Given the description of an element on the screen output the (x, y) to click on. 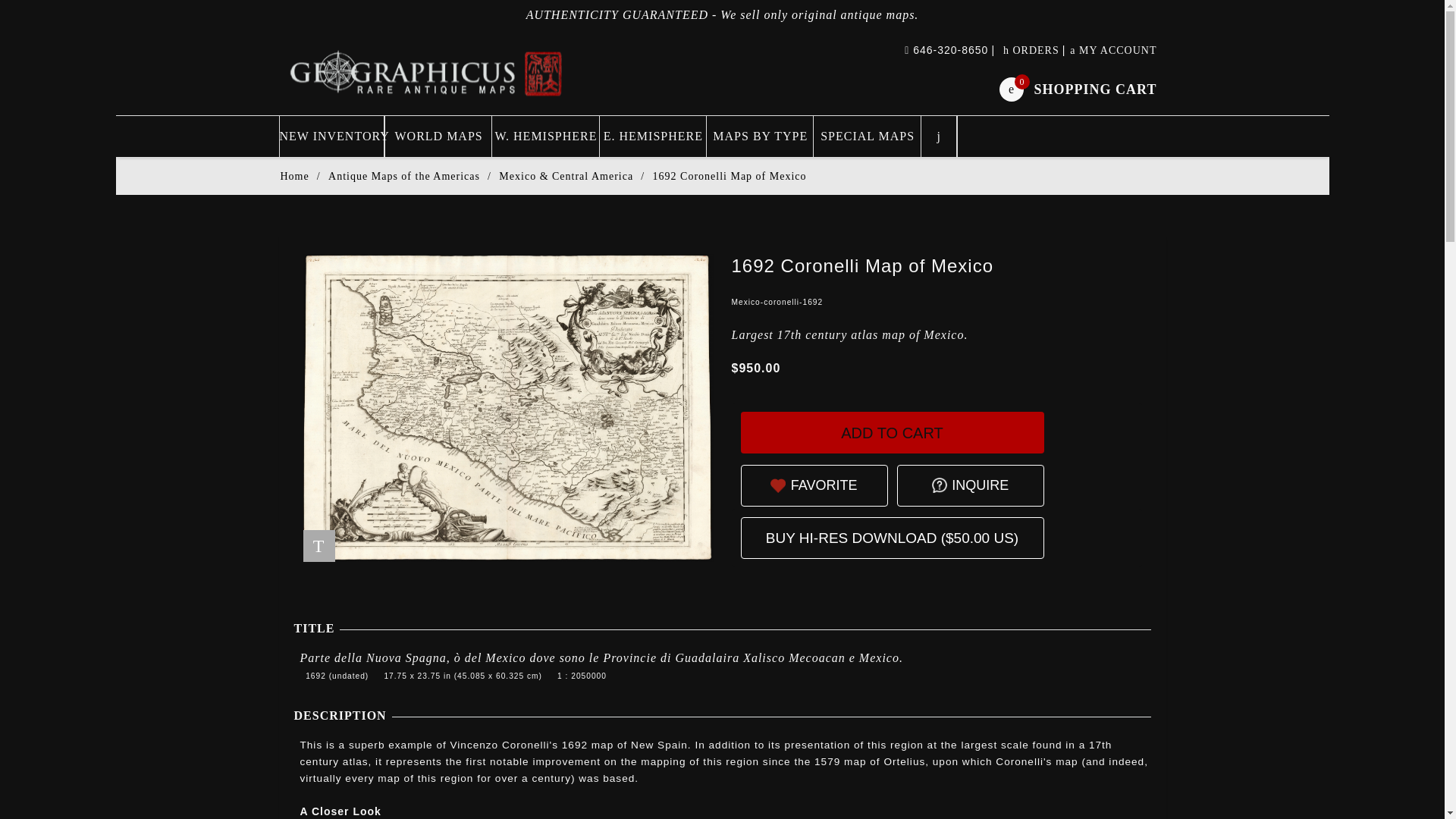
Home (294, 175)
MY ACCOUNT (1113, 50)
Geographicus Rare Antique Maps (427, 72)
Antique Maps of the Americas (404, 175)
FAVORITE (1077, 88)
INQUIRE (823, 485)
ORDERS (980, 485)
Add to Cart (1031, 50)
Geographicus Rare Antique Maps (891, 432)
